Given the description of an element on the screen output the (x, y) to click on. 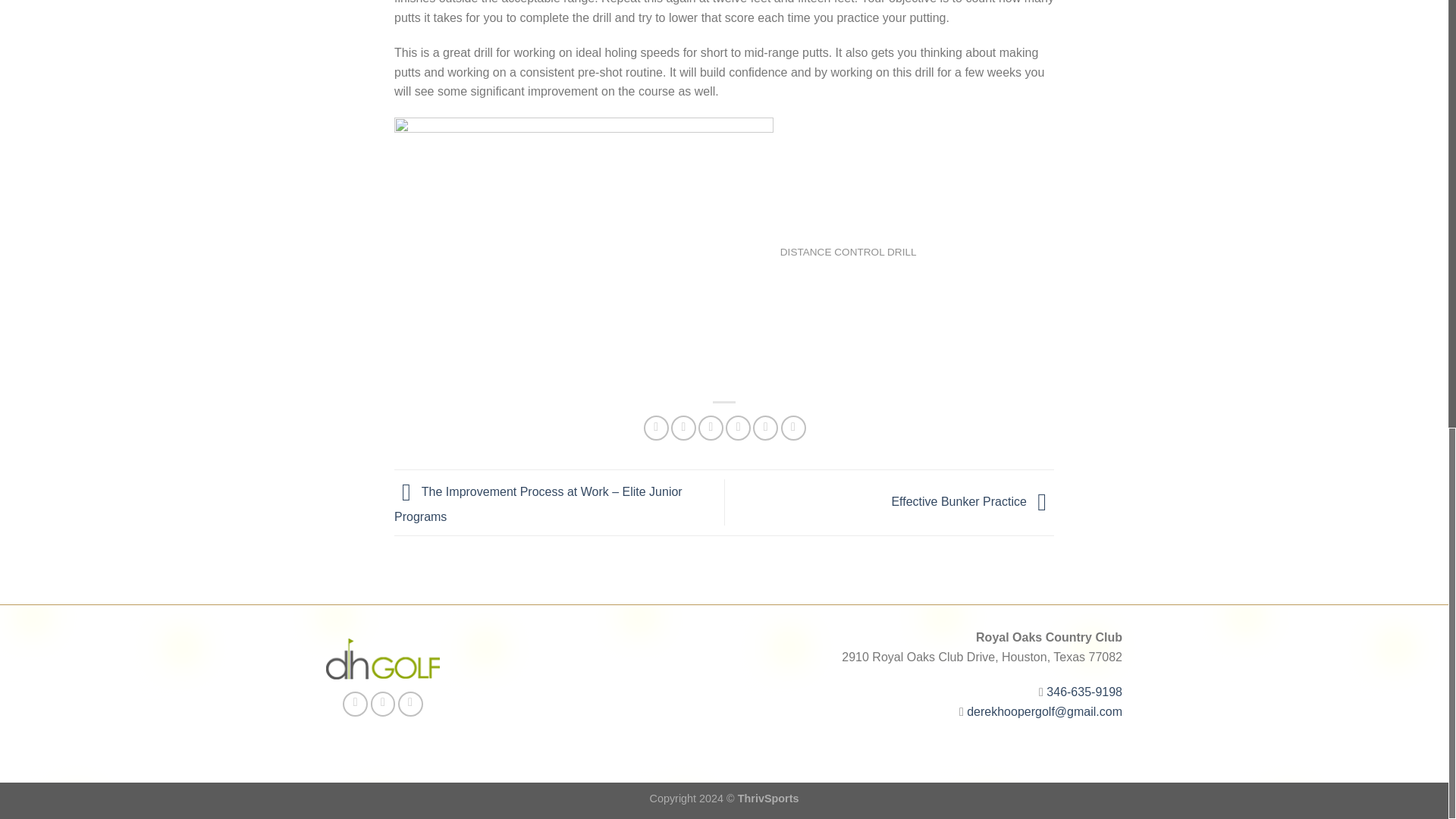
Pin on Pinterest (738, 427)
Share on Facebook (655, 427)
Email to a Friend (710, 427)
Ladder drill (583, 252)
Follow on YouTube (410, 703)
346-635-9198 (1084, 691)
Follow on Twitter (383, 703)
Follow on Facebook (355, 703)
Effective Bunker Practice (972, 501)
Share on Twitter (683, 427)
